Given the description of an element on the screen output the (x, y) to click on. 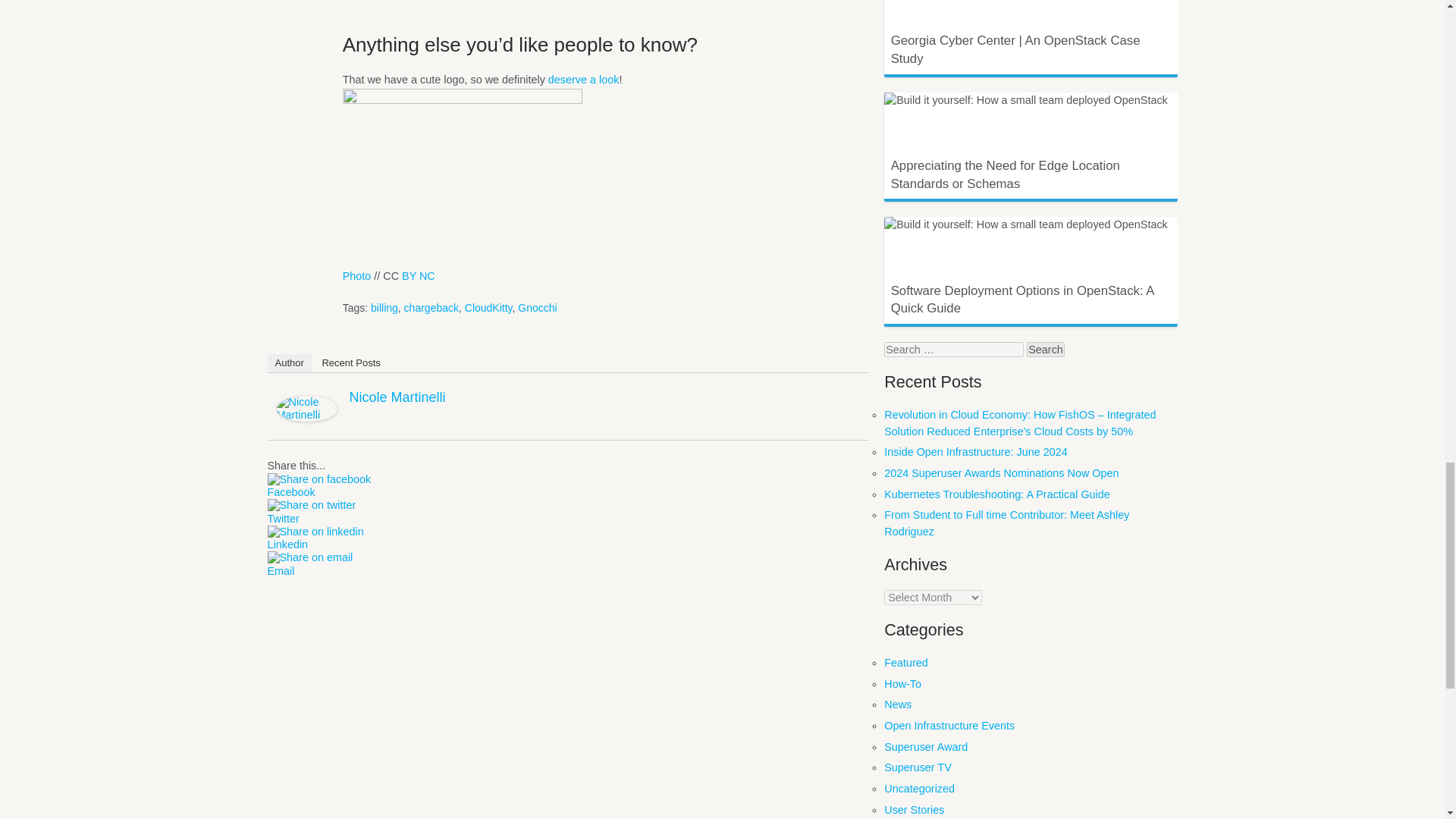
deserve a look (584, 79)
BY NC (418, 275)
Nicole Martinelli (306, 417)
twitter (310, 504)
linkedin (314, 531)
email (309, 557)
chargeback (431, 307)
Facebook (566, 492)
Author (288, 362)
Nicole Martinelli (397, 396)
